Given the description of an element on the screen output the (x, y) to click on. 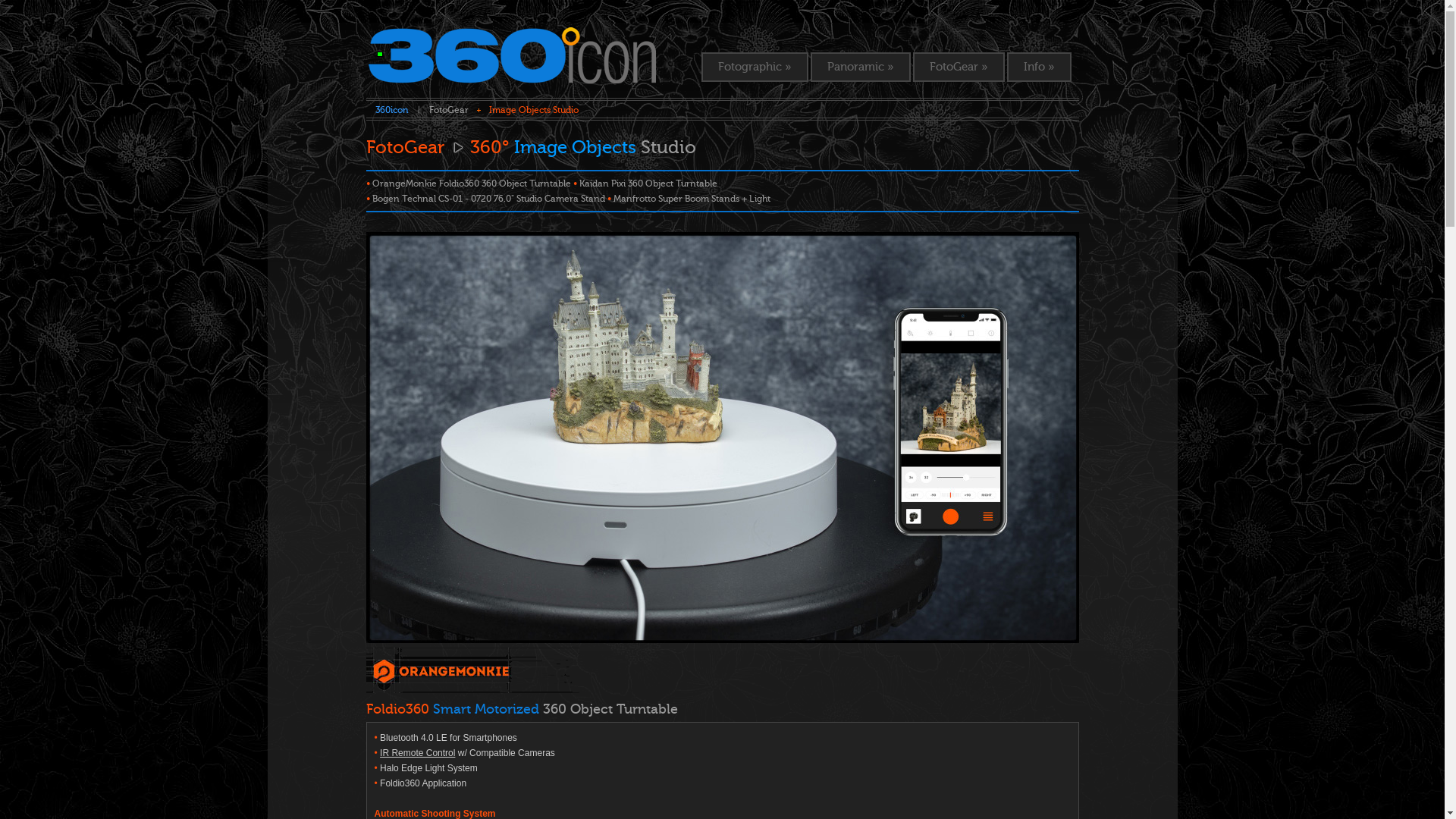
360icon Element type: text (390, 109)
